Given the description of an element on the screen output the (x, y) to click on. 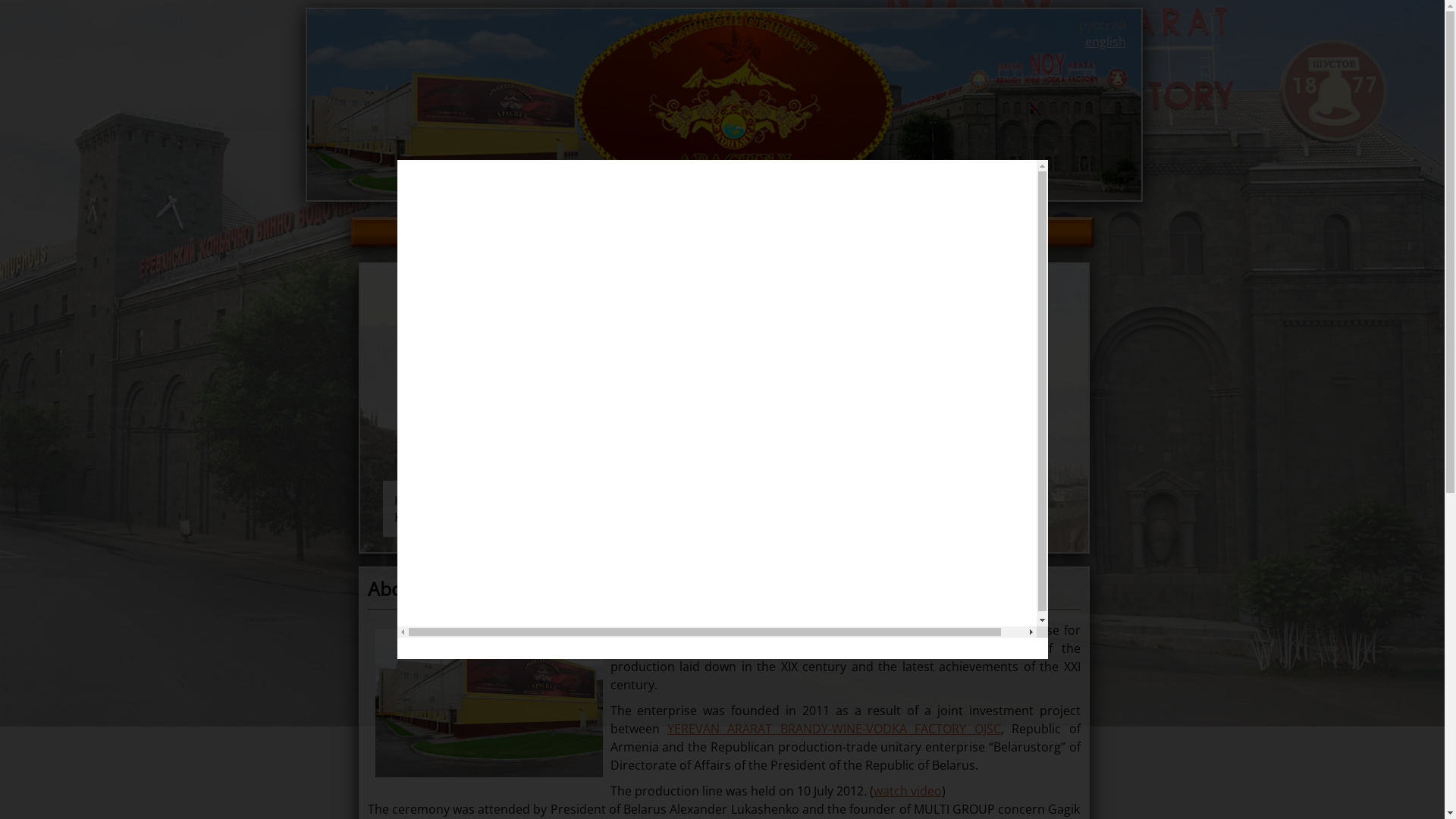
watch video Element type: text (907, 790)
Products Element type: text (902, 231)
News Element type: text (581, 231)
History Element type: text (647, 231)
About Company Element type: text (487, 231)
Photo Gallery Element type: text (803, 231)
english Element type: text (1104, 41)
YEREVAN ARARAT BRANDY-WINE-VODKA FACTORY OJSC Element type: text (834, 728)
Contacts Element type: text (982, 231)
Guide Element type: text (715, 231)
